Given the description of an element on the screen output the (x, y) to click on. 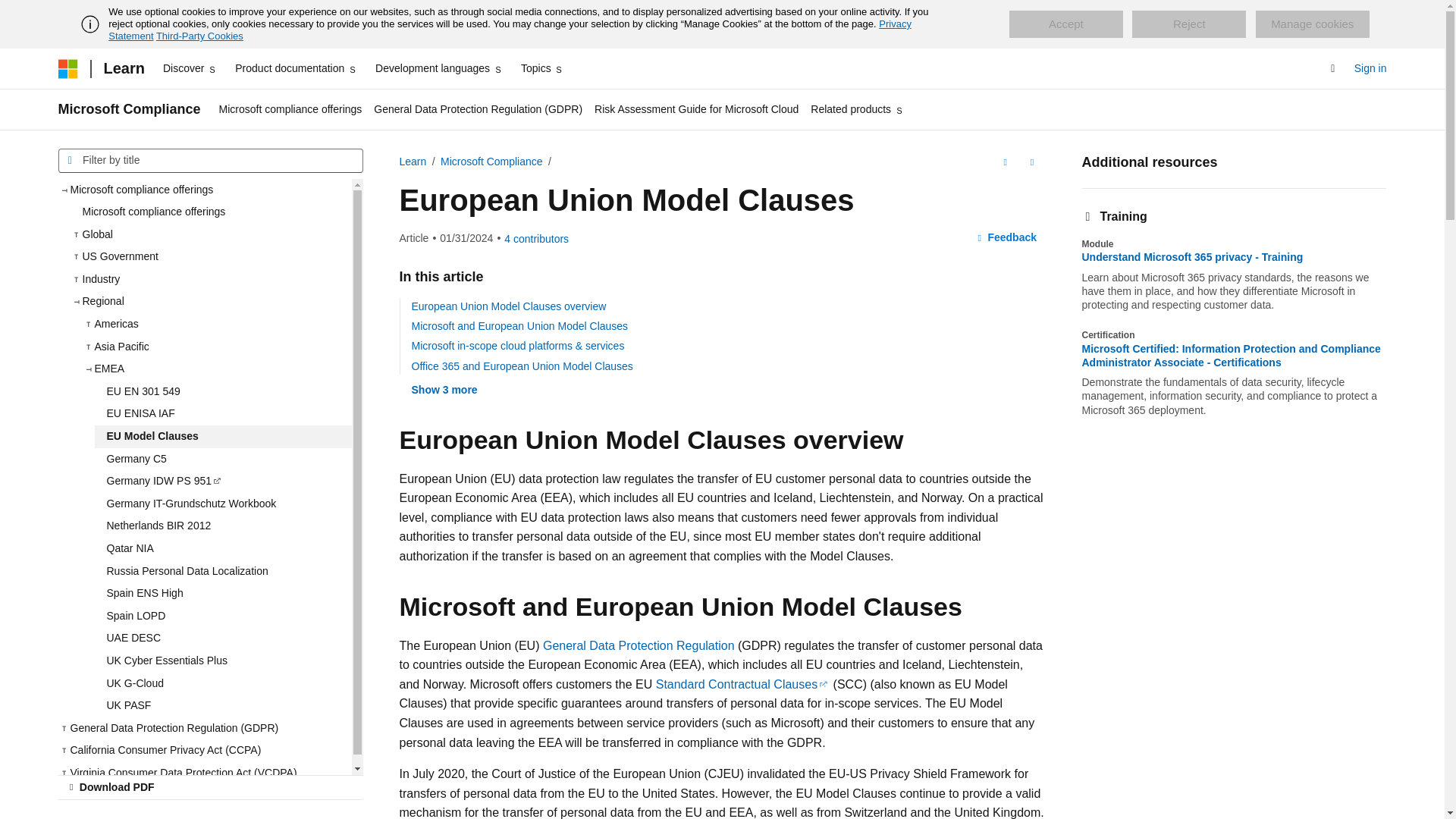
More actions (1031, 161)
Related products (857, 109)
Reject (1189, 23)
EU EN 301 549 (222, 391)
EU Model Clauses (222, 436)
Risk Assessment Guide for Microsoft Cloud (696, 109)
Topics (542, 68)
Skip to main content (11, 11)
Discover (189, 68)
Third-Party Cookies (199, 35)
